Given the description of an element on the screen output the (x, y) to click on. 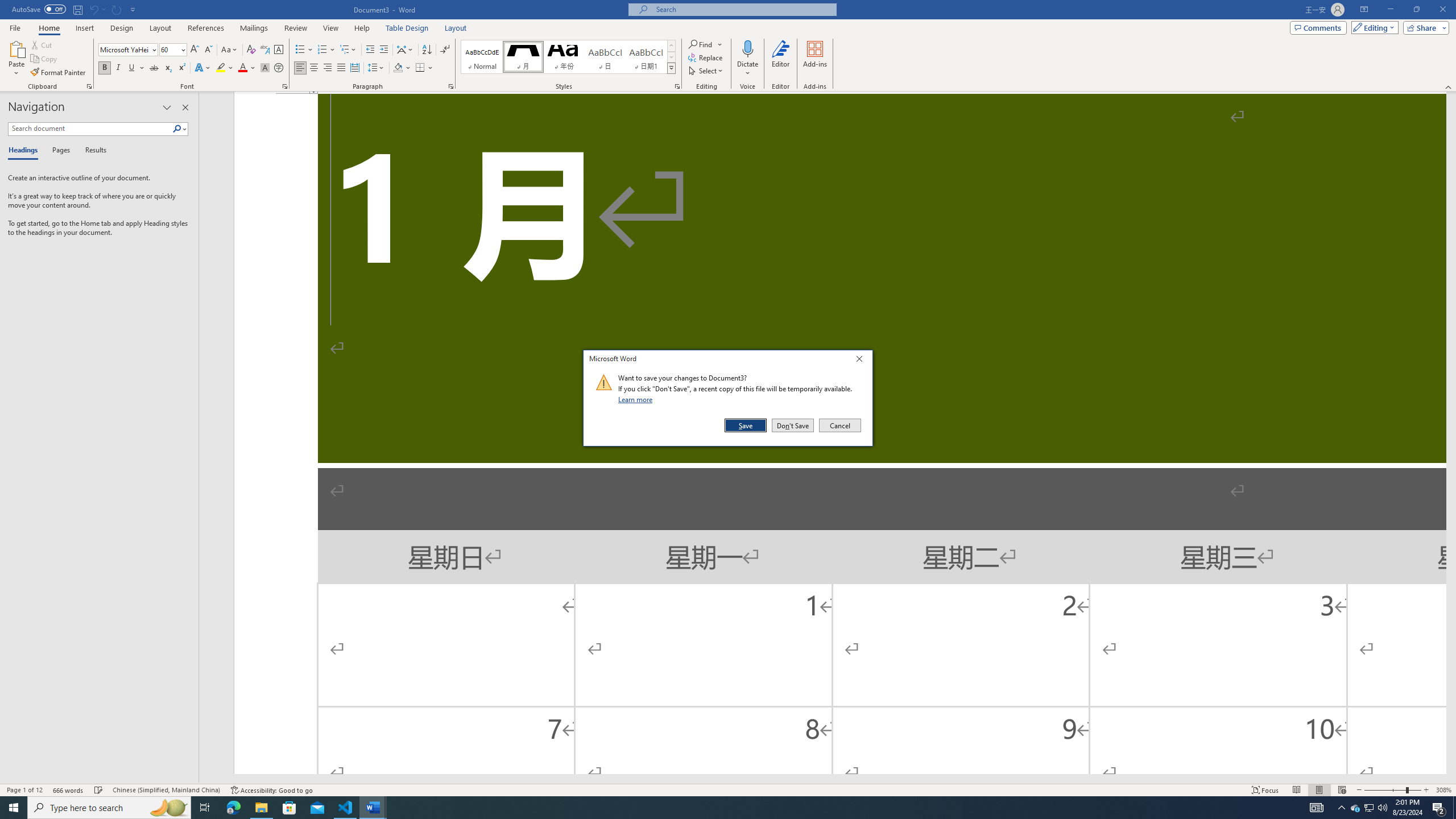
Can't Repeat (117, 9)
Underline (131, 67)
Class: NetUIImage (603, 382)
Share (1423, 27)
Collapse the Ribbon (1448, 86)
Visual Studio Code - 1 running window (345, 807)
Font (124, 49)
Microsoft Edge (233, 807)
Borders (419, 67)
Align Right (327, 67)
Zoom In (1426, 790)
Office Clipboard... (88, 85)
Subscript (167, 67)
Distributed (354, 67)
